Given the description of an element on the screen output the (x, y) to click on. 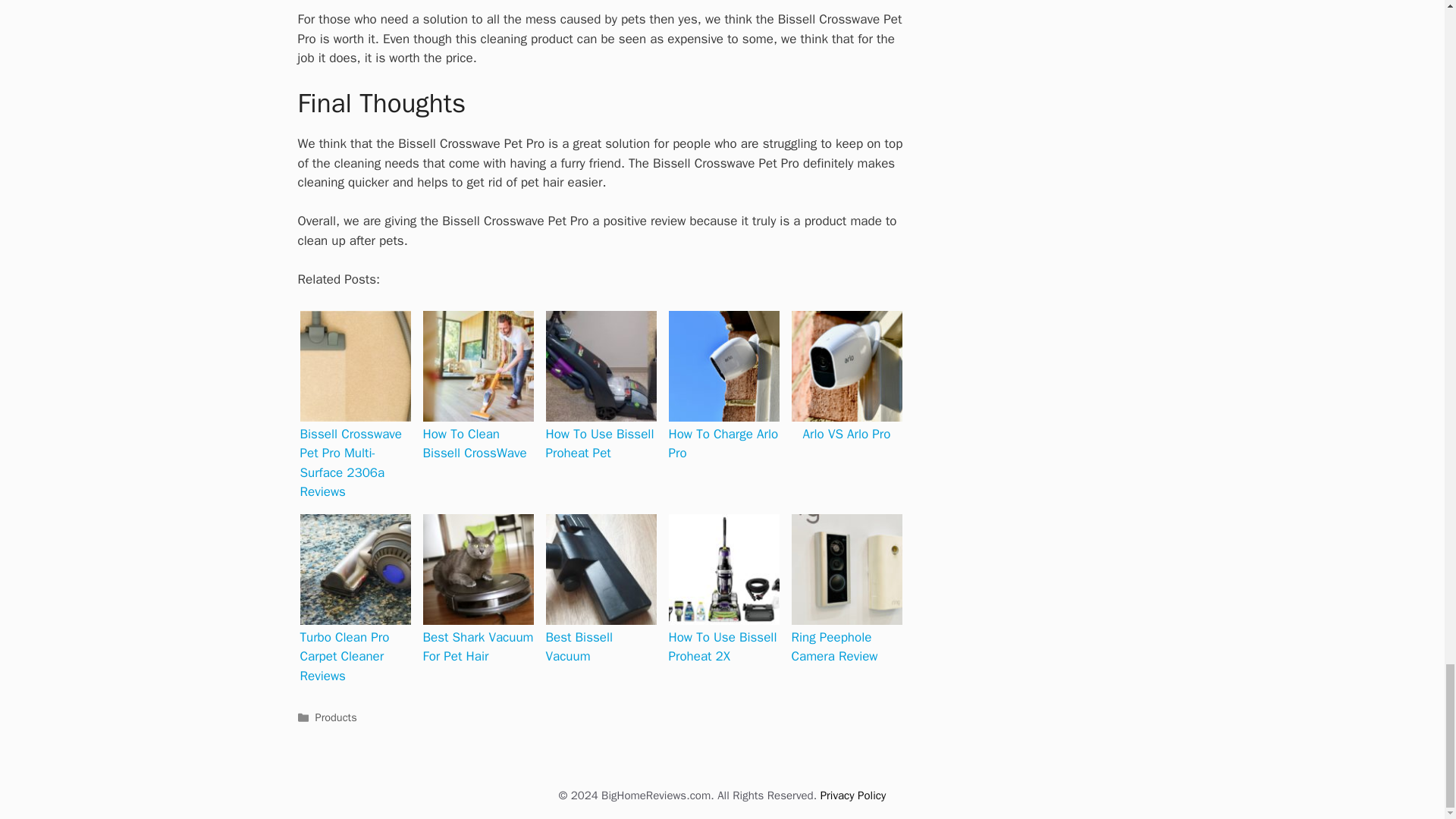
How To Clean Bissell CrossWave (478, 366)
How To Use Bissell Proheat Pet (601, 366)
Ring Peephole Camera Review (847, 569)
Bissell Crosswave Pet Pro Multi-Surface 2306a Reviews (354, 366)
How To Use Bissell Proheat 2X (723, 569)
Turbo Clean Pro Carpet Cleaner Reviews (354, 569)
Best Shark Vacuum For Pet Hair (478, 569)
Best Bissell Vacuum (601, 569)
Products (335, 716)
How To Charge Arlo Pro (723, 366)
